Given the description of an element on the screen output the (x, y) to click on. 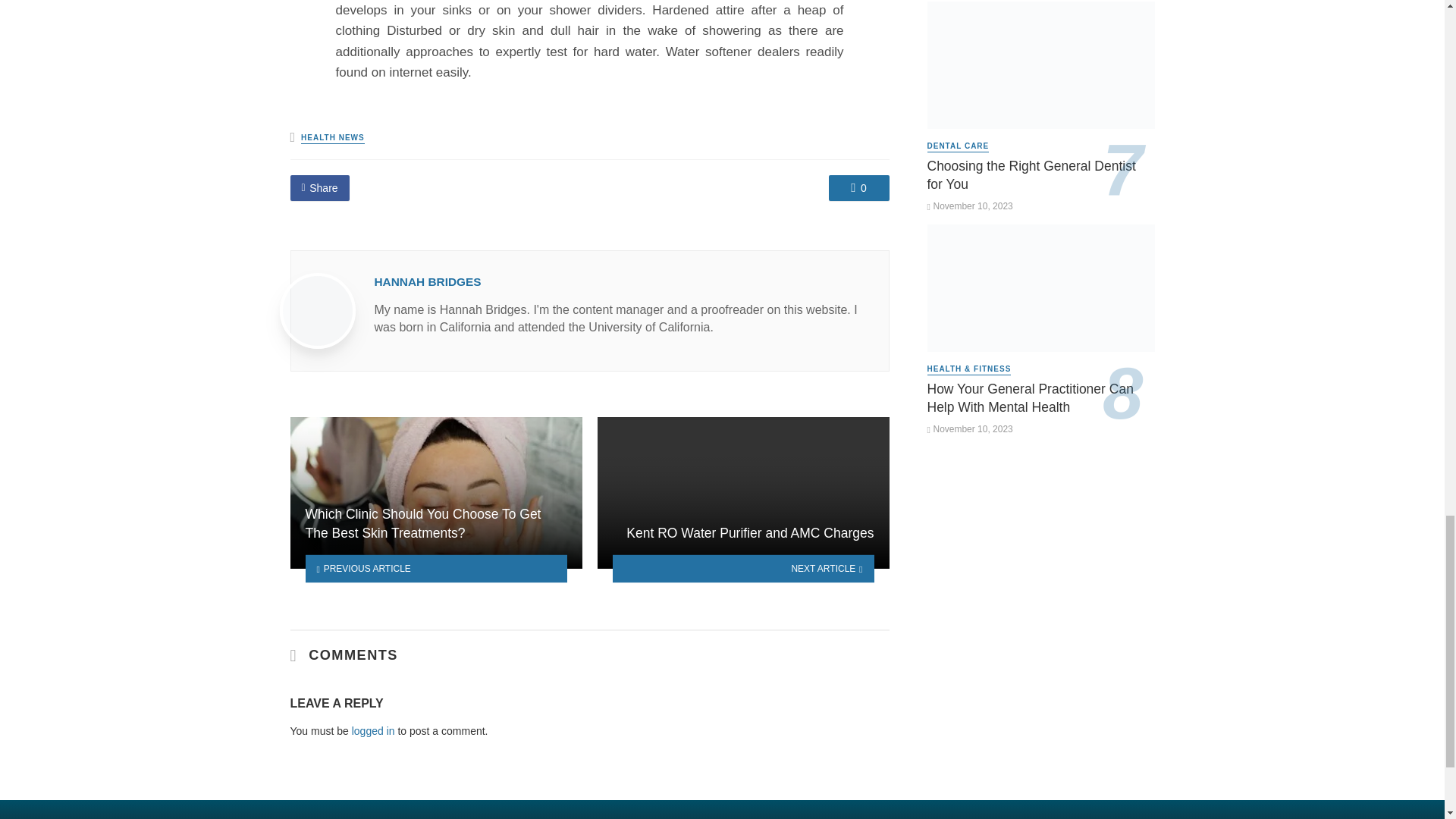
logged in (373, 730)
PREVIOUS ARTICLE (434, 568)
0 (858, 187)
Share on Facebook (319, 187)
HEALTH NEWS (333, 138)
Posts by Hannah Bridges (427, 281)
NEXT ARTICLE (742, 568)
HANNAH BRIDGES (427, 281)
Share (319, 187)
0 Comments (858, 187)
